Given the description of an element on the screen output the (x, y) to click on. 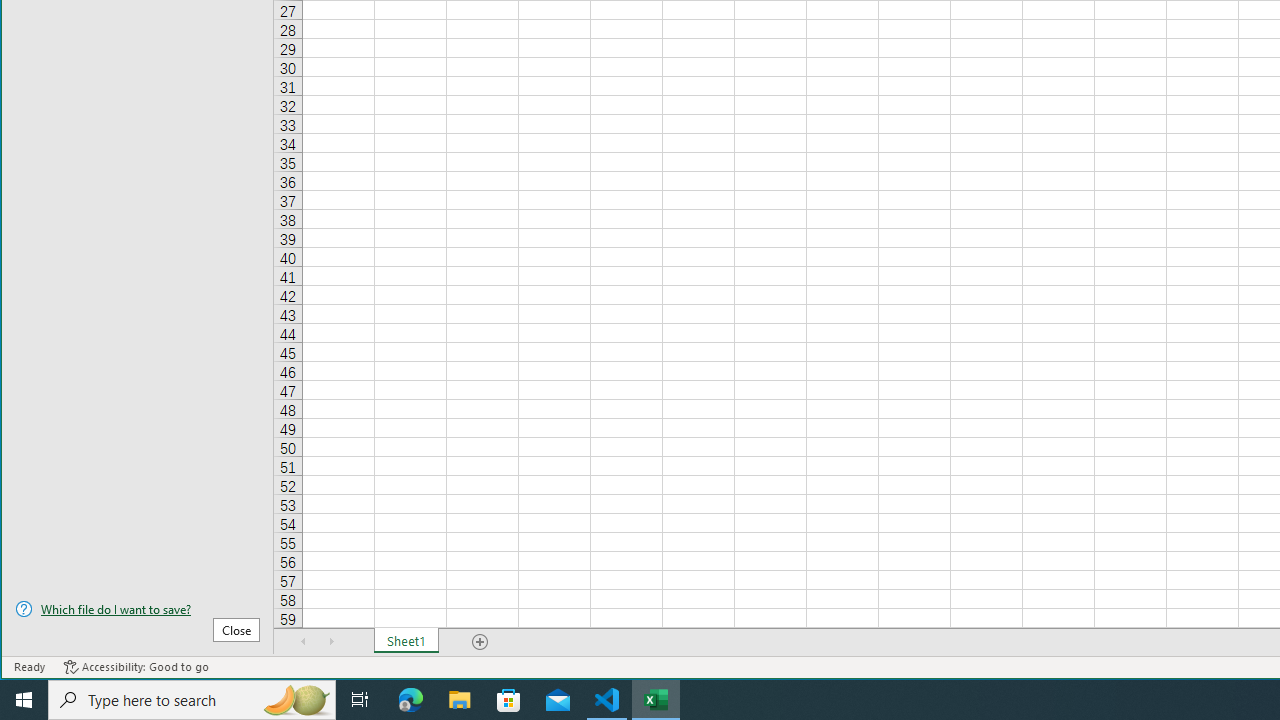
Which file do I want to save? (137, 609)
Type here to search (191, 699)
Visual Studio Code - 1 running window (607, 699)
Task View (359, 699)
Microsoft Store (509, 699)
Start (24, 699)
Search highlights icon opens search home window (295, 699)
File Explorer (460, 699)
Microsoft Edge (411, 699)
